Given the description of an element on the screen output the (x, y) to click on. 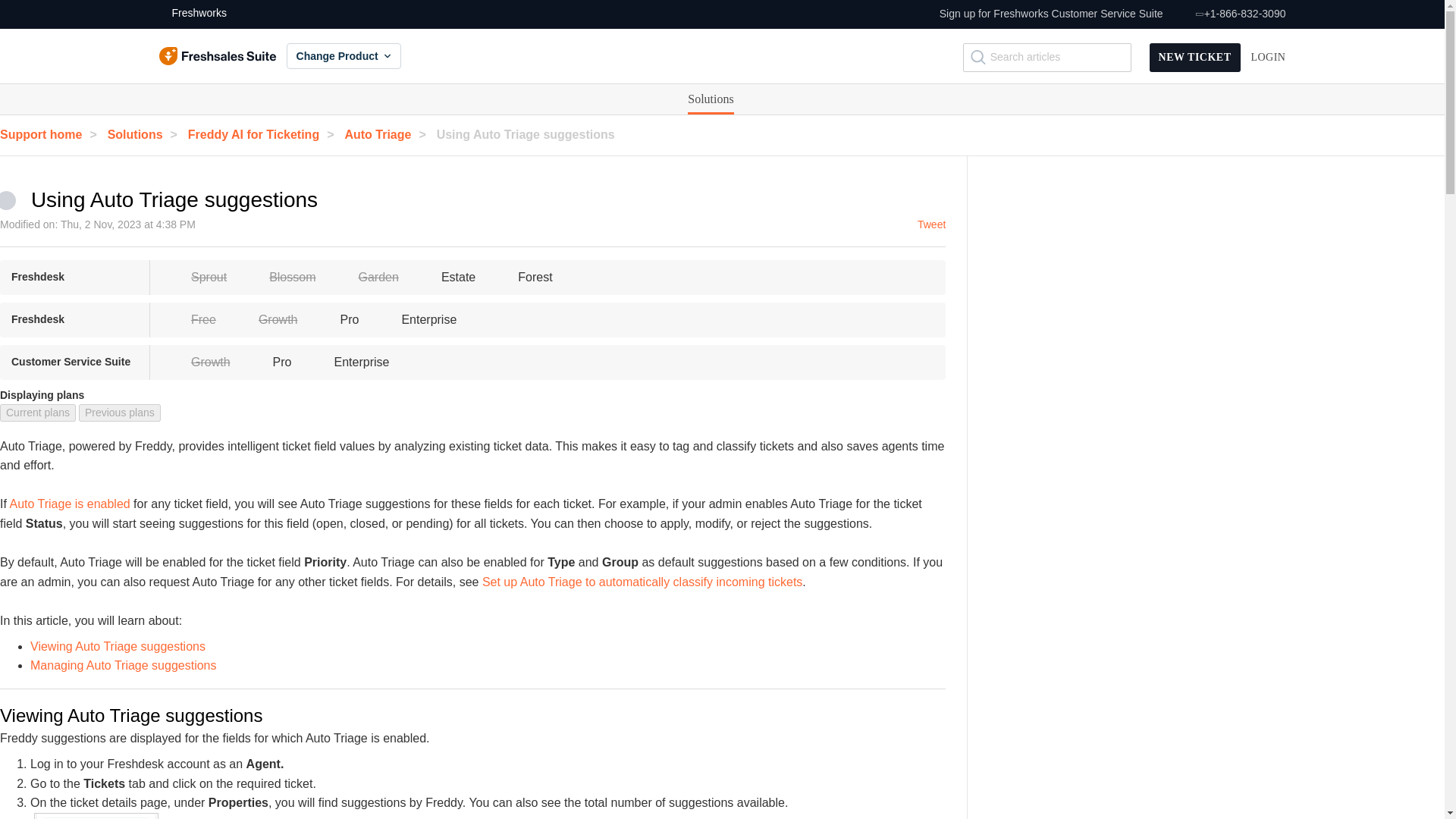
Previous plans (119, 412)
Viewing Auto Triage suggestions (117, 645)
Solutions (145, 133)
Freshworks (192, 13)
NEW TICKET (1195, 57)
Solutions (710, 99)
Auto Triage is enabled (68, 503)
Solutions (710, 99)
Solutions (710, 99)
Managing Auto Triage suggestions (123, 665)
